Given the description of an element on the screen output the (x, y) to click on. 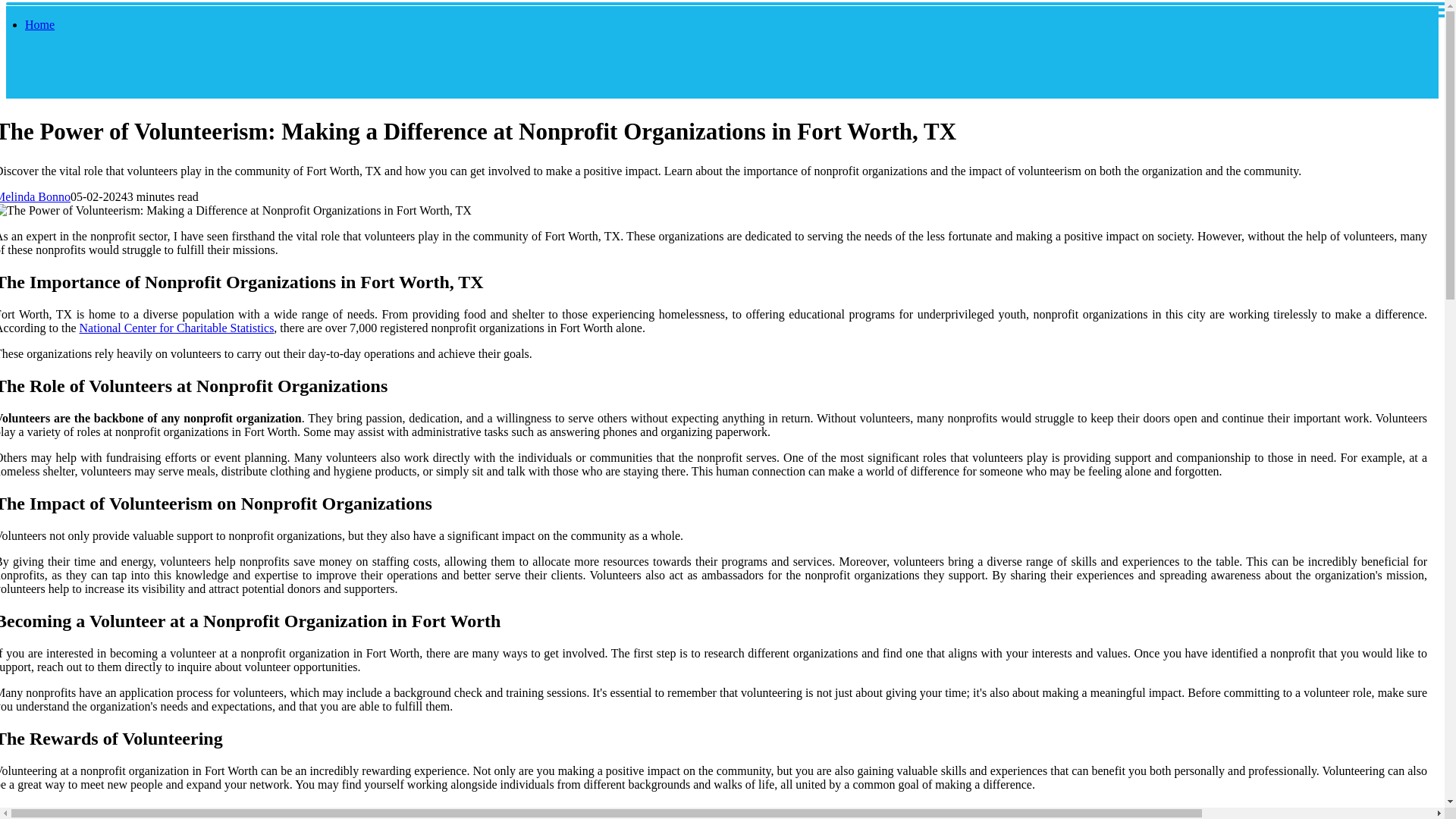
Posts by Melinda Bonno (34, 196)
Home (39, 24)
National Center for Charitable Statistics (177, 327)
Melinda Bonno (34, 196)
